Given the description of an element on the screen output the (x, y) to click on. 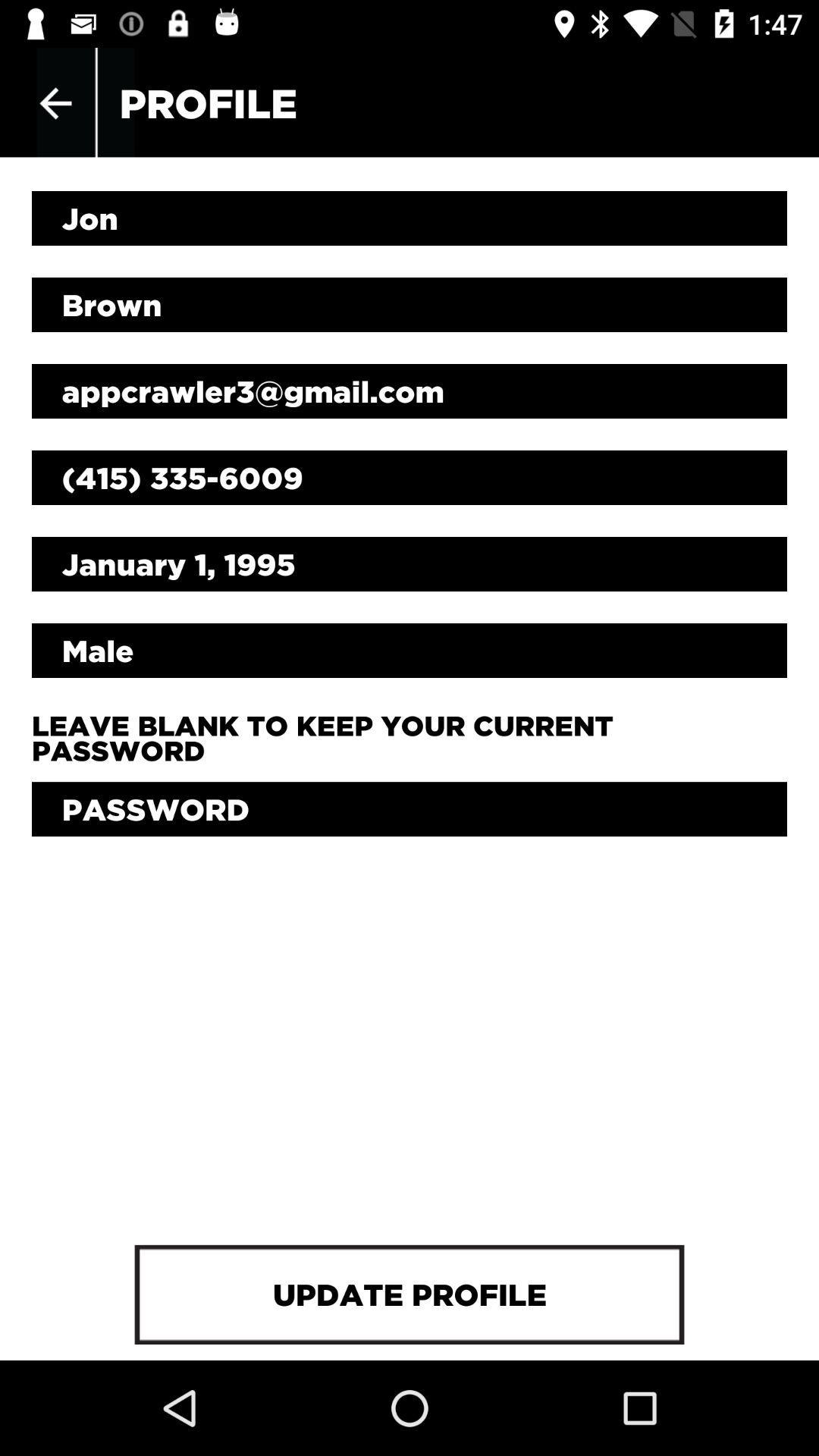
turn on male (409, 650)
